Given the description of an element on the screen output the (x, y) to click on. 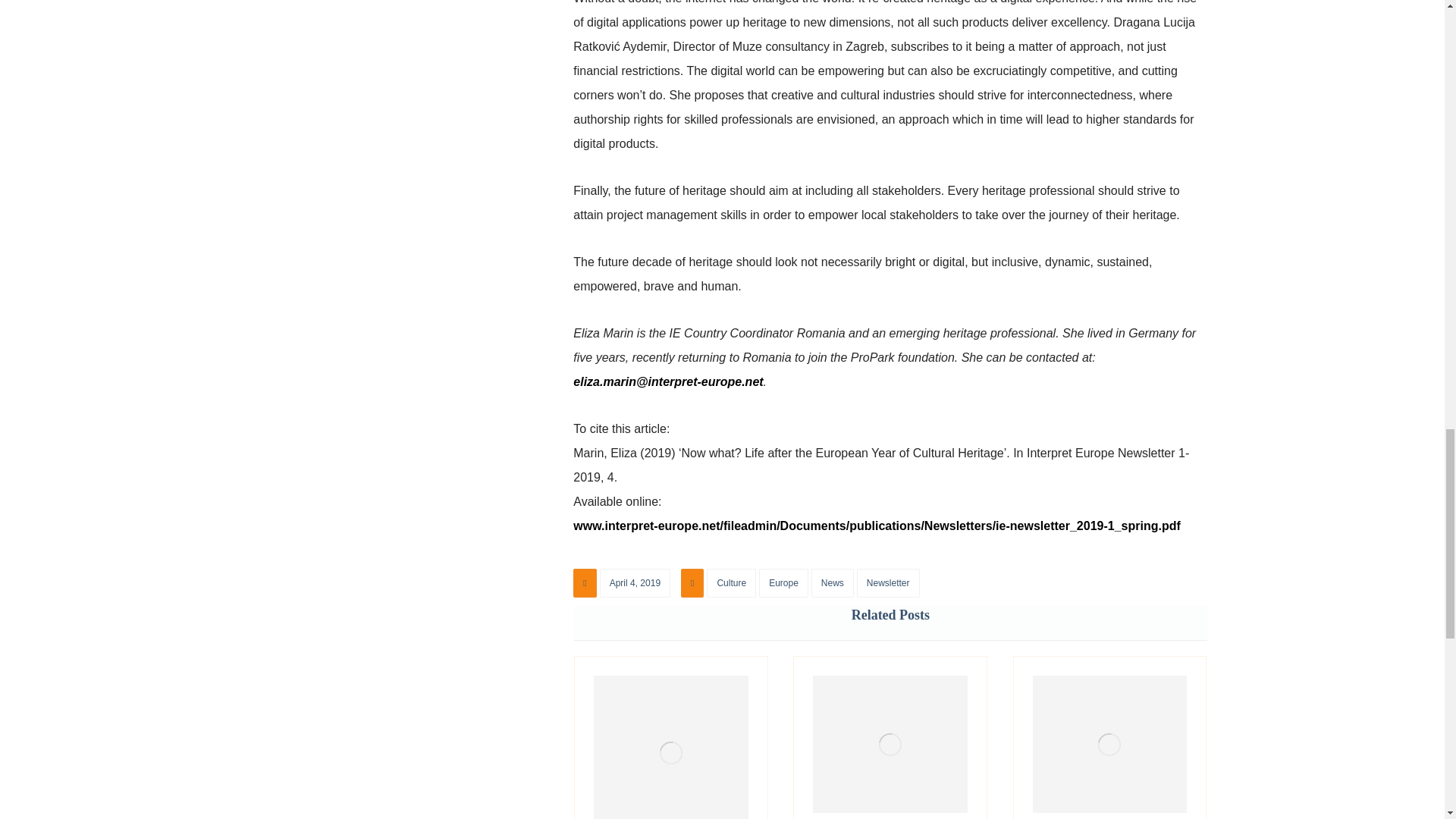
Published on (622, 586)
